Given the description of an element on the screen output the (x, y) to click on. 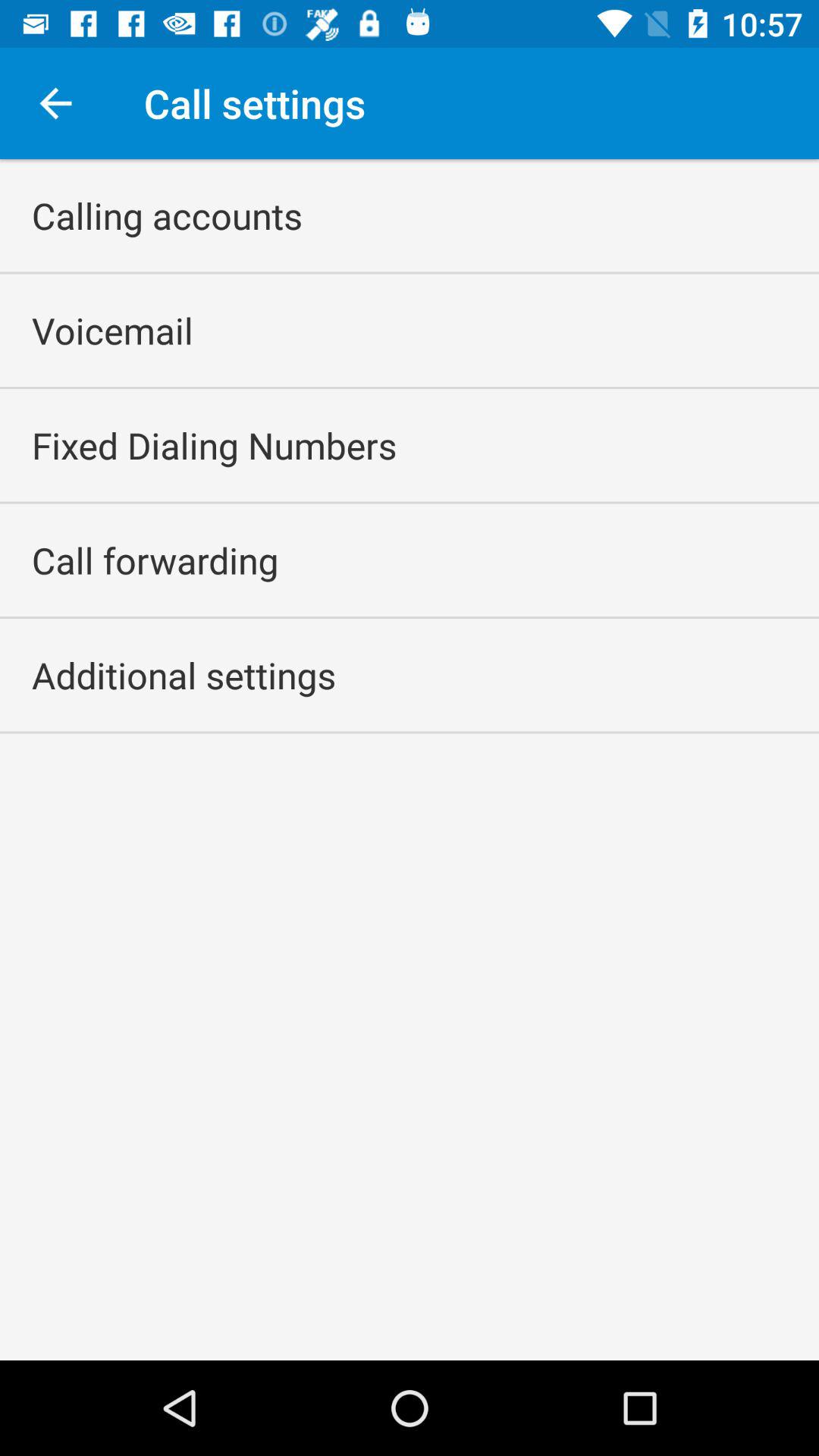
turn off the calling accounts (166, 215)
